Given the description of an element on the screen output the (x, y) to click on. 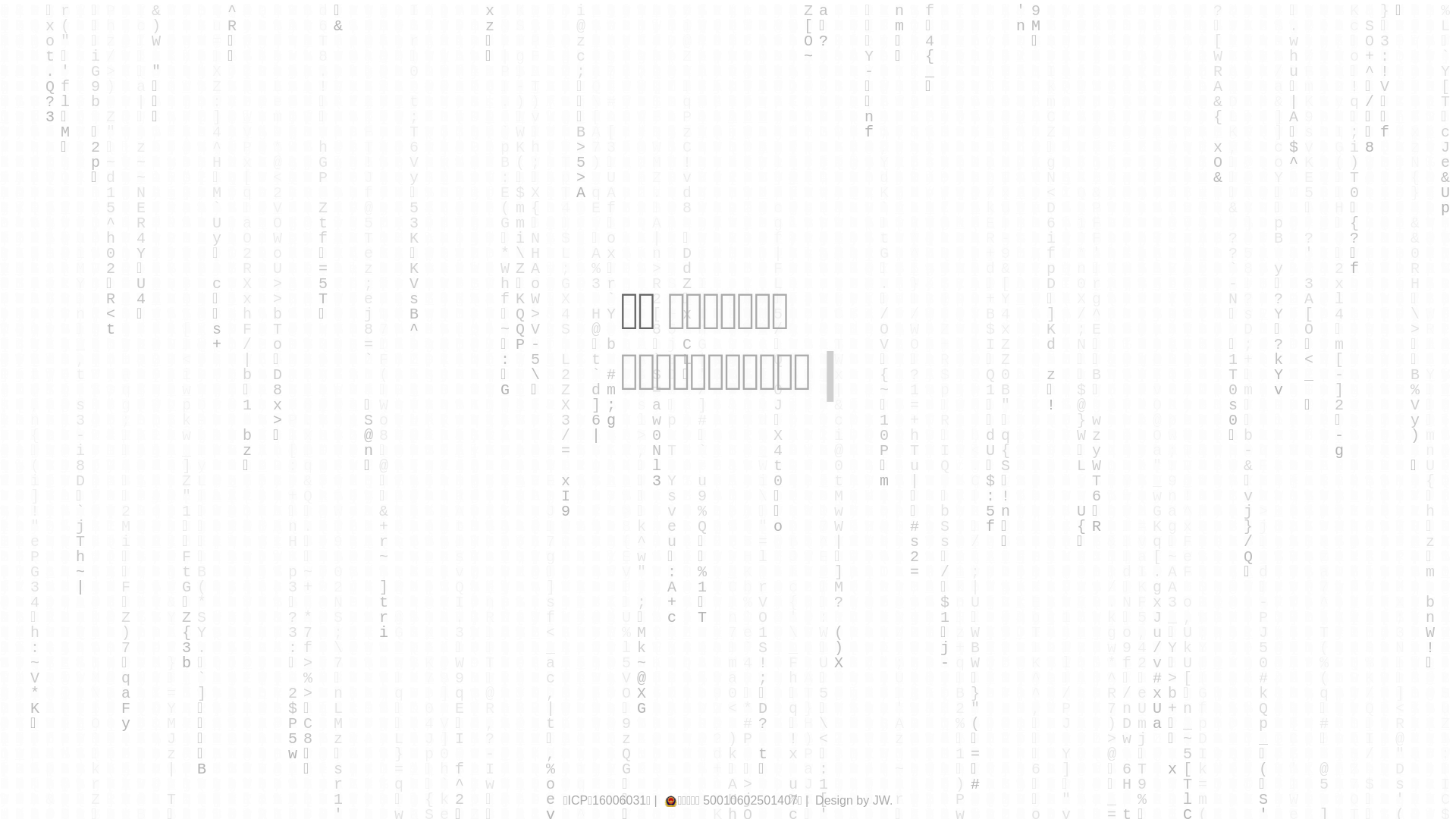
Design by JW. Element type: text (853, 799)
